Given the description of an element on the screen output the (x, y) to click on. 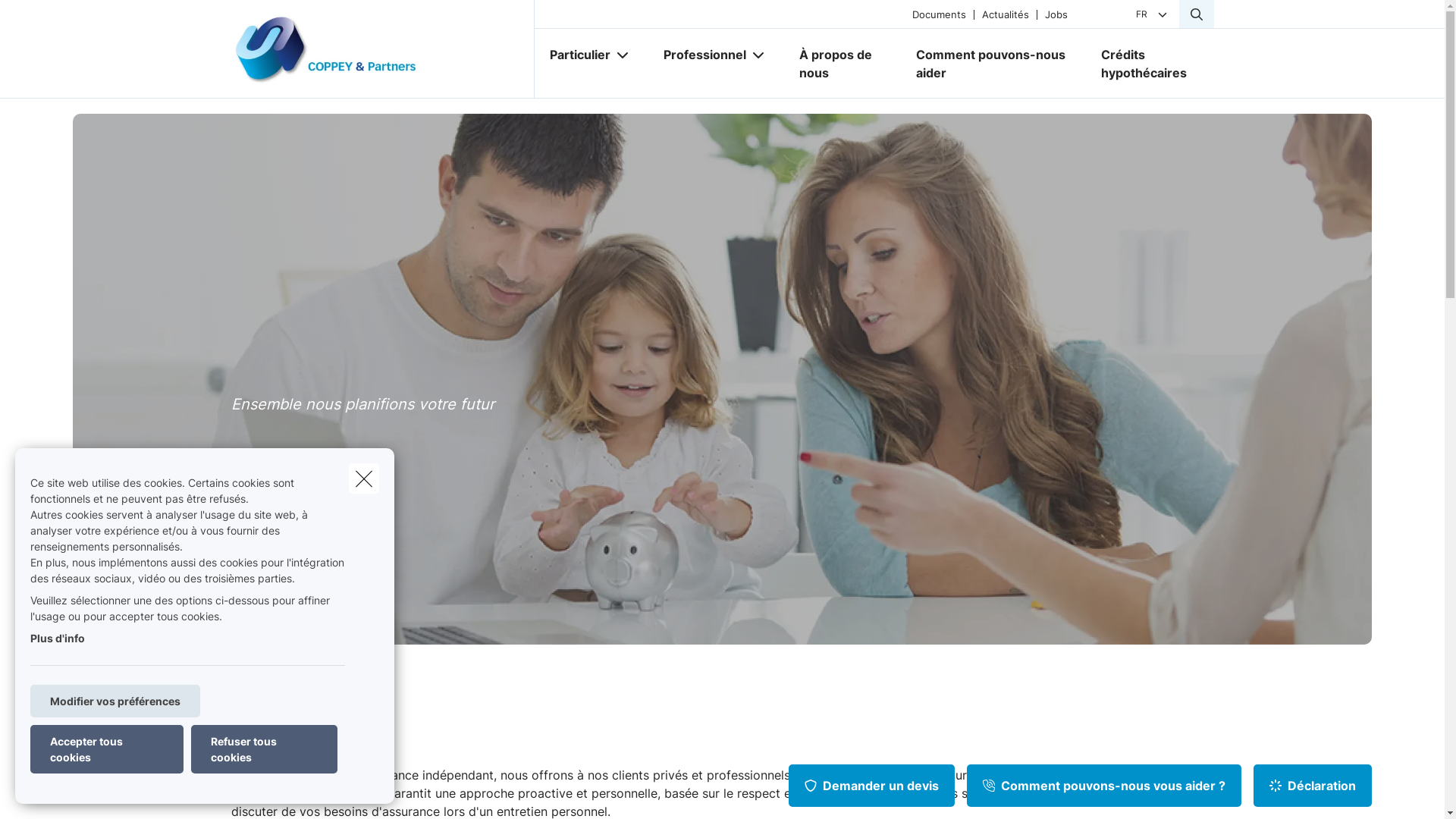
Jobs Element type: text (1054, 13)
Accepter tous cookies Element type: text (106, 748)
Particulier Element type: text (573, 54)
Professionnel Element type: text (698, 54)
Refuser tous cookies Element type: text (264, 748)
Documents Element type: text (937, 13)
Comment pouvons-nous vous aider ? Element type: text (1103, 785)
Demander un devis Element type: text (871, 785)
Comment pouvons-nous aider Element type: text (992, 63)
Plus d'info Element type: text (57, 637)
Rechercher Element type: text (54, 18)
